Given the description of an element on the screen output the (x, y) to click on. 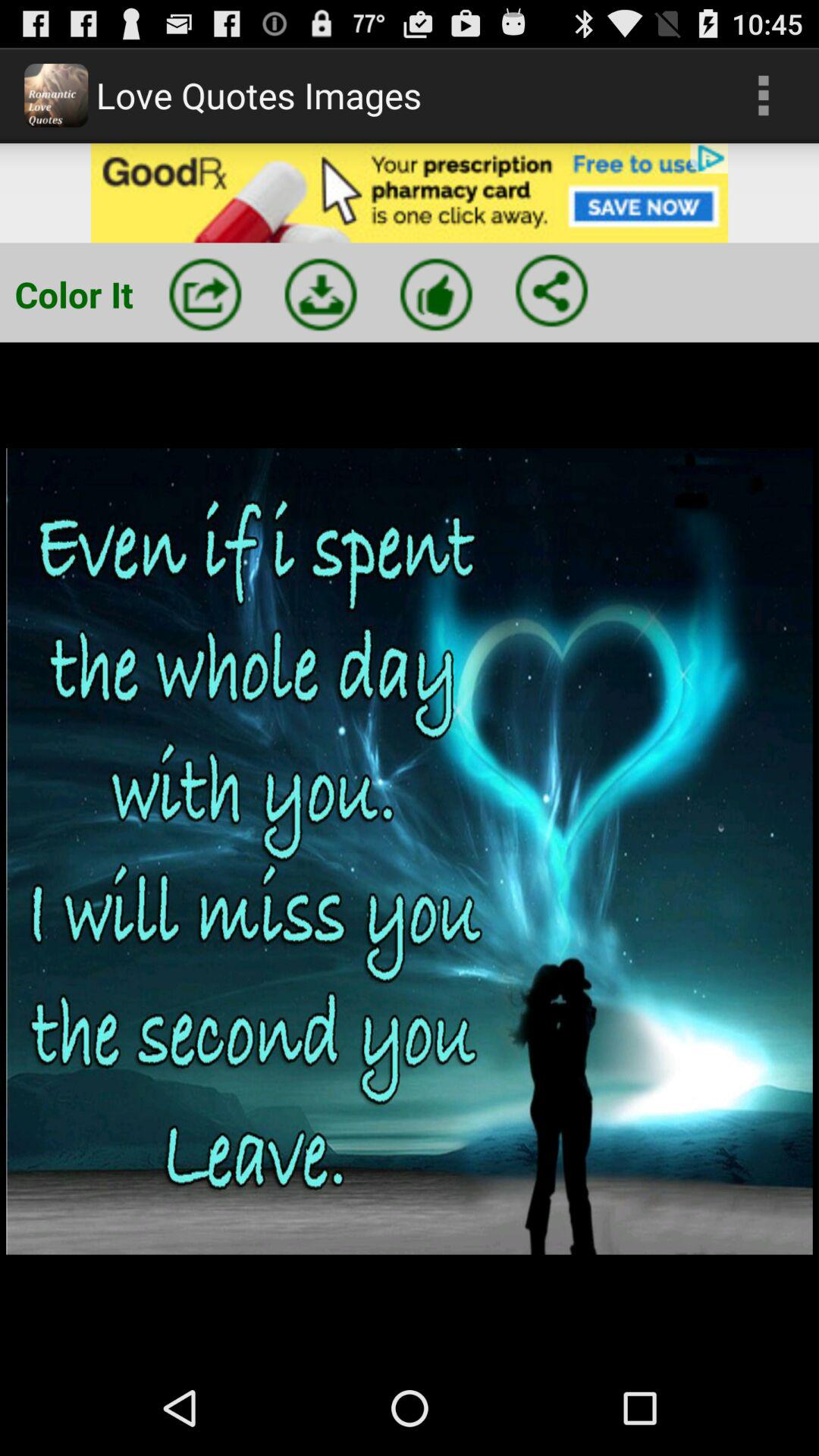
like button (436, 294)
